Given the description of an element on the screen output the (x, y) to click on. 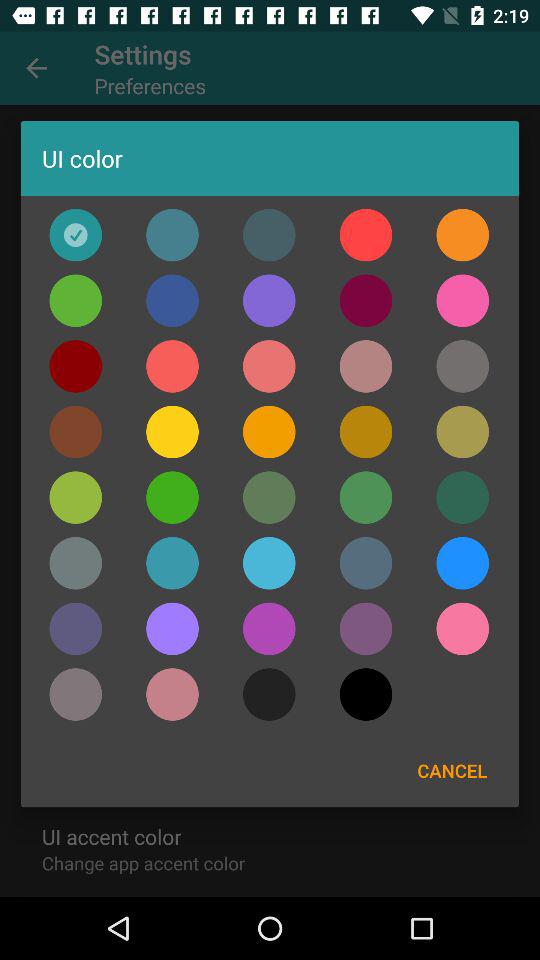
select color (75, 628)
